Given the description of an element on the screen output the (x, y) to click on. 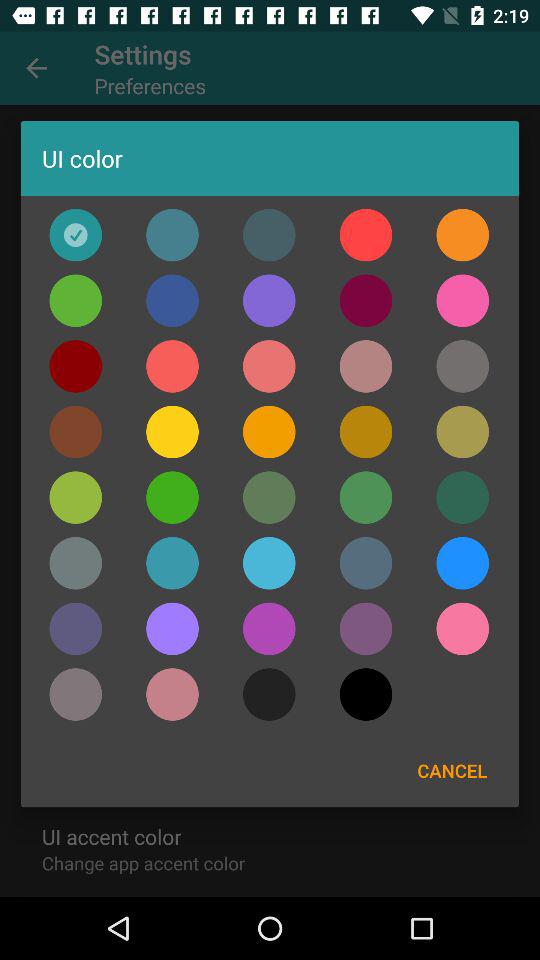
select color (75, 628)
